Given the description of an element on the screen output the (x, y) to click on. 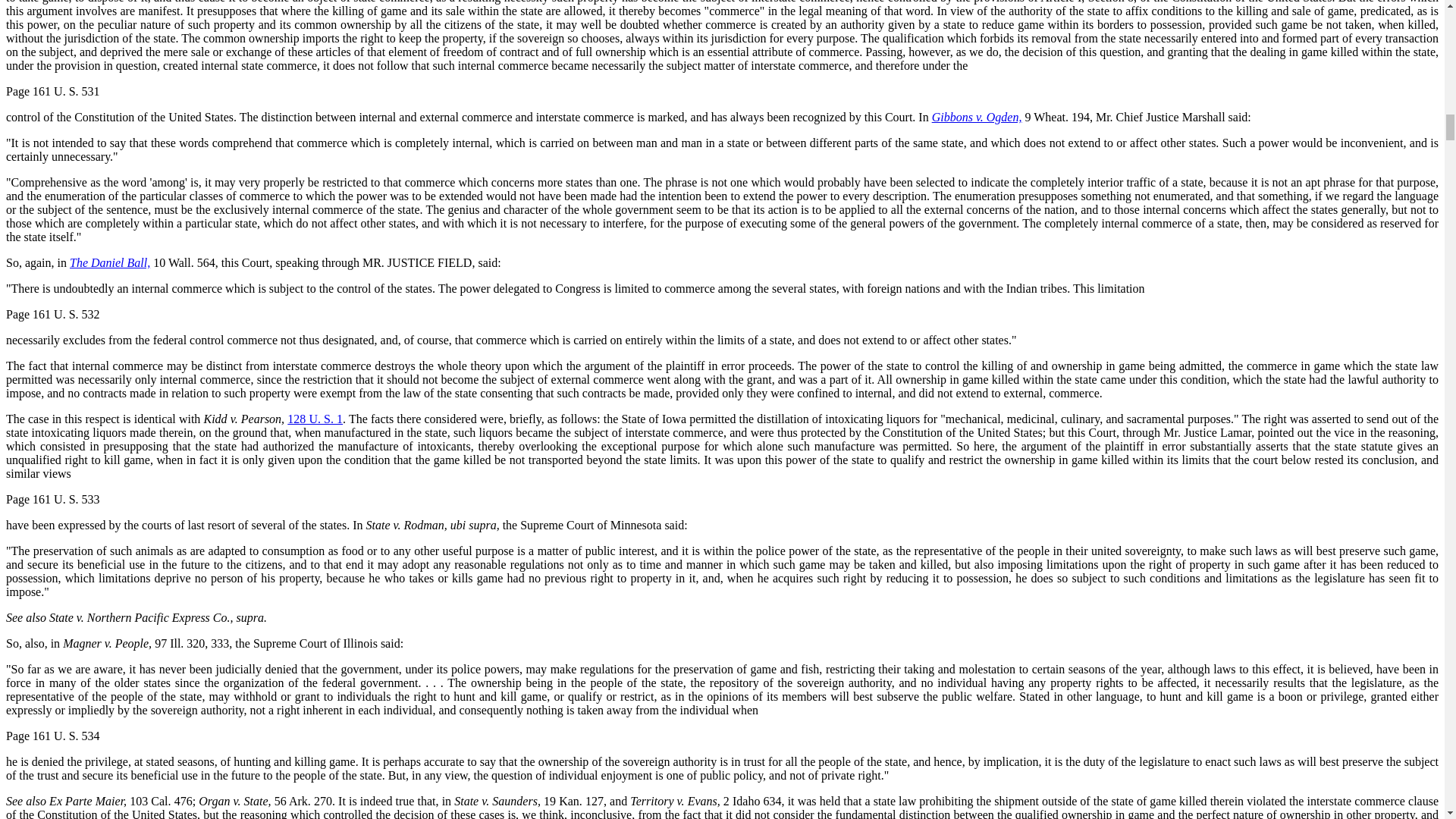
Page 161 U. S. 533 (52, 499)
Page 161 U. S. 534 (52, 735)
128 U. S. 1 (314, 418)
Gibbons v. Ogden, (976, 116)
The Daniel Ball, (109, 262)
Page 161 U. S. 531 (52, 91)
Page 161 U. S. 532 (52, 314)
